Given the description of an element on the screen output the (x, y) to click on. 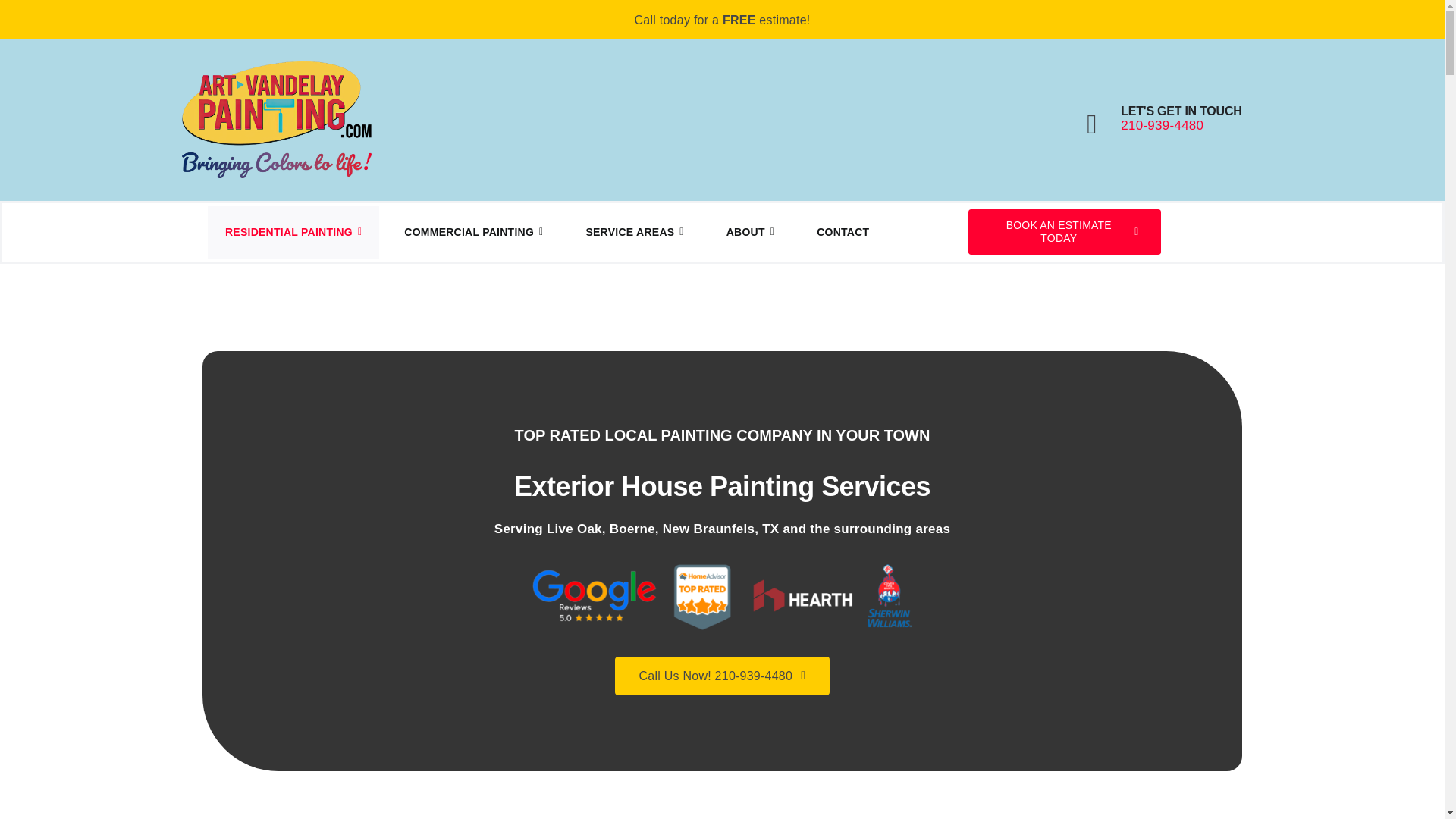
RESIDENTIAL PAINTING (293, 232)
Certifications (721, 596)
COMMERCIAL PAINTING (473, 232)
